Given the description of an element on the screen output the (x, y) to click on. 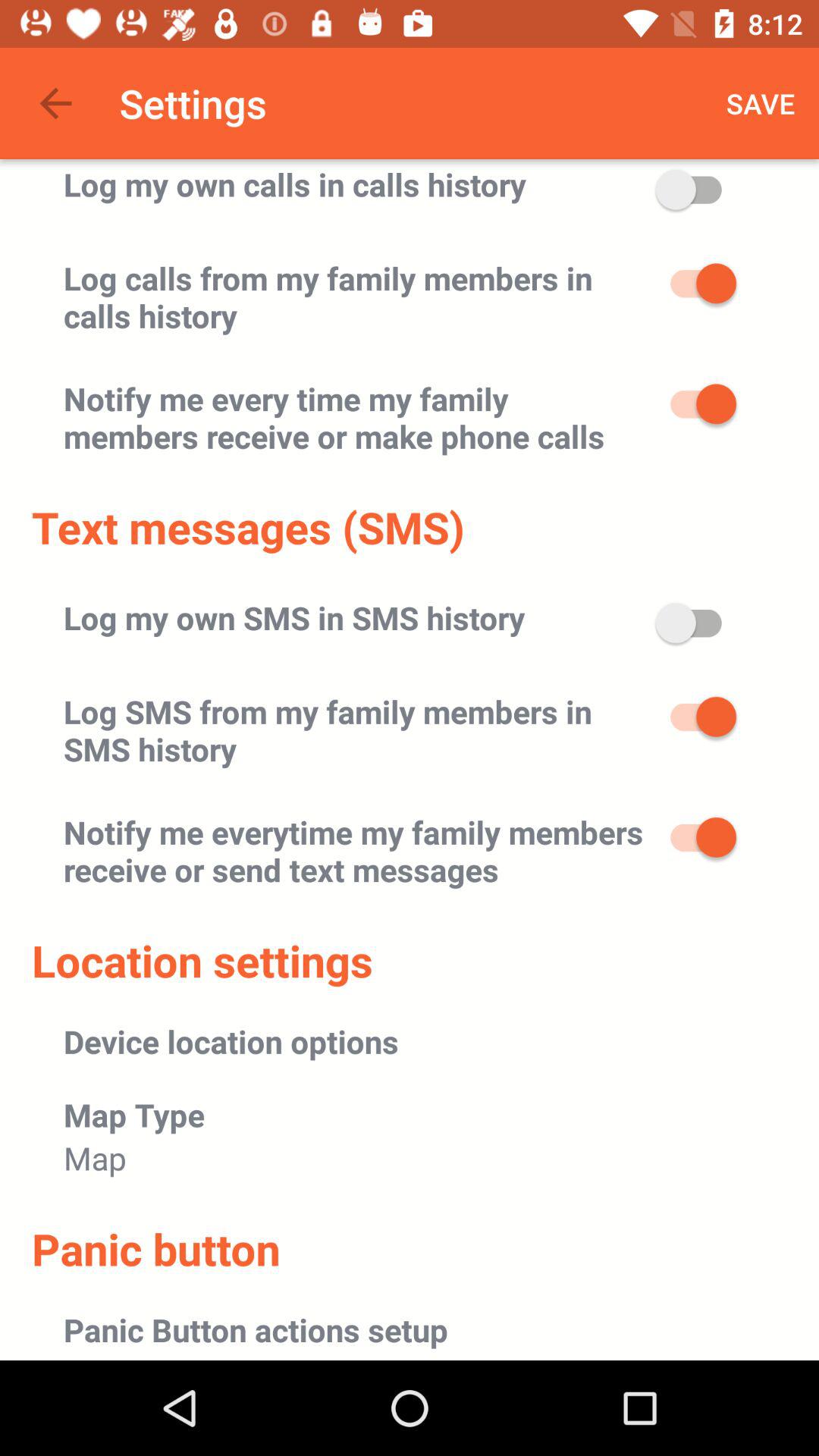
press the item above map item (133, 1114)
